Given the description of an element on the screen output the (x, y) to click on. 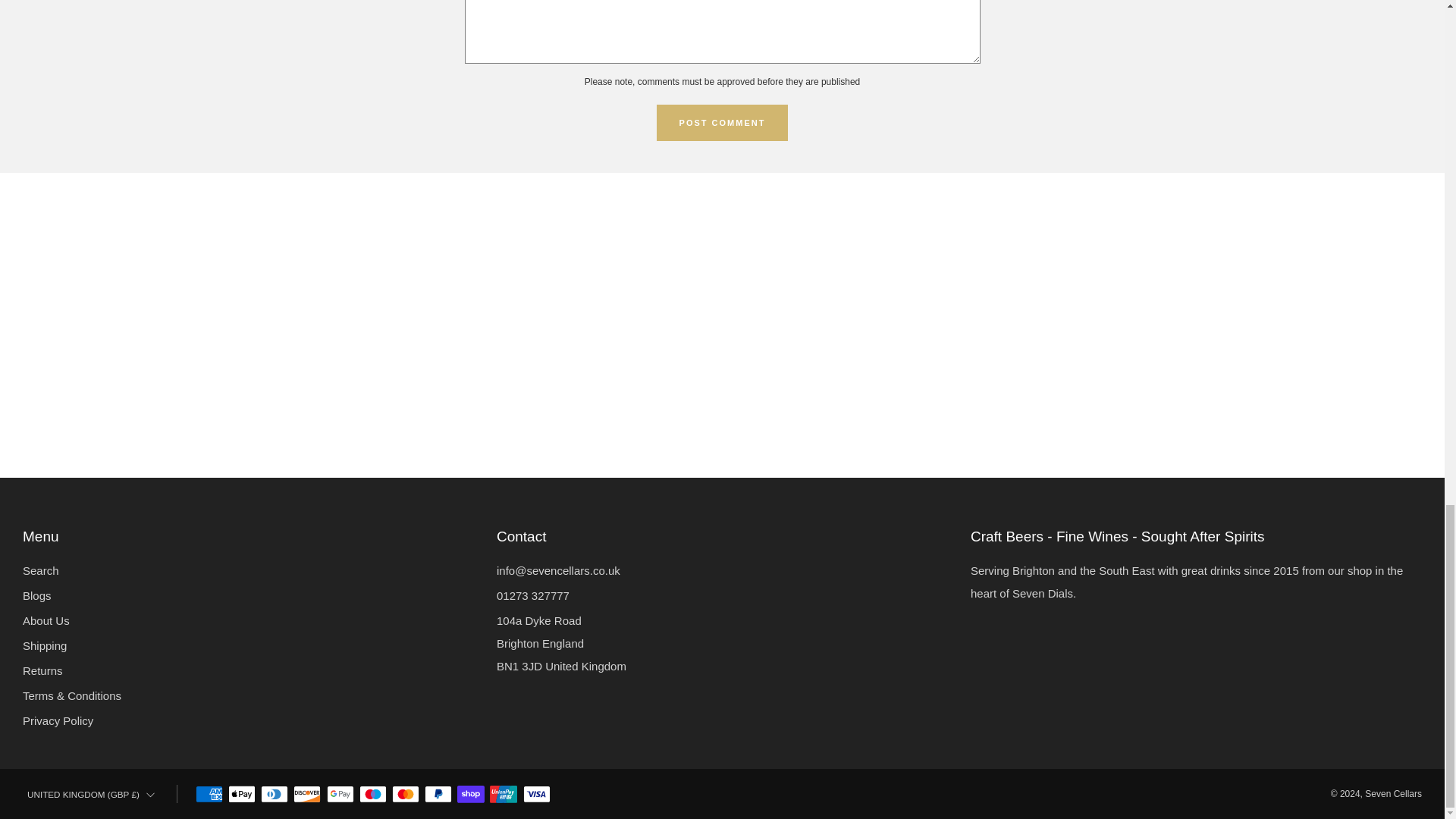
Post comment (722, 122)
